Given the description of an element on the screen output the (x, y) to click on. 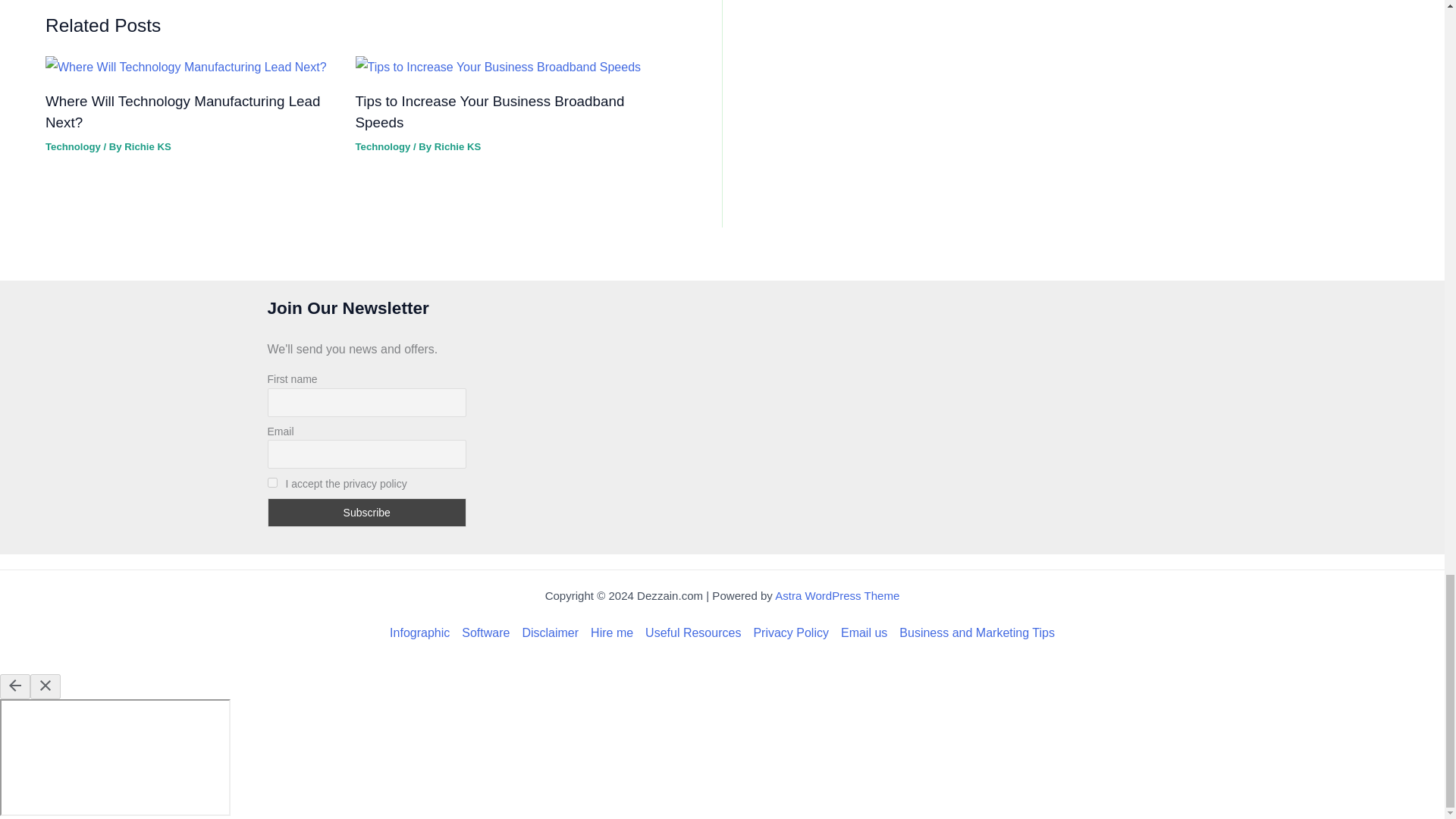
View all posts by Richie KS (146, 146)
View all posts by Richie KS (456, 146)
Subscribe (365, 512)
on (271, 481)
